Given the description of an element on the screen output the (x, y) to click on. 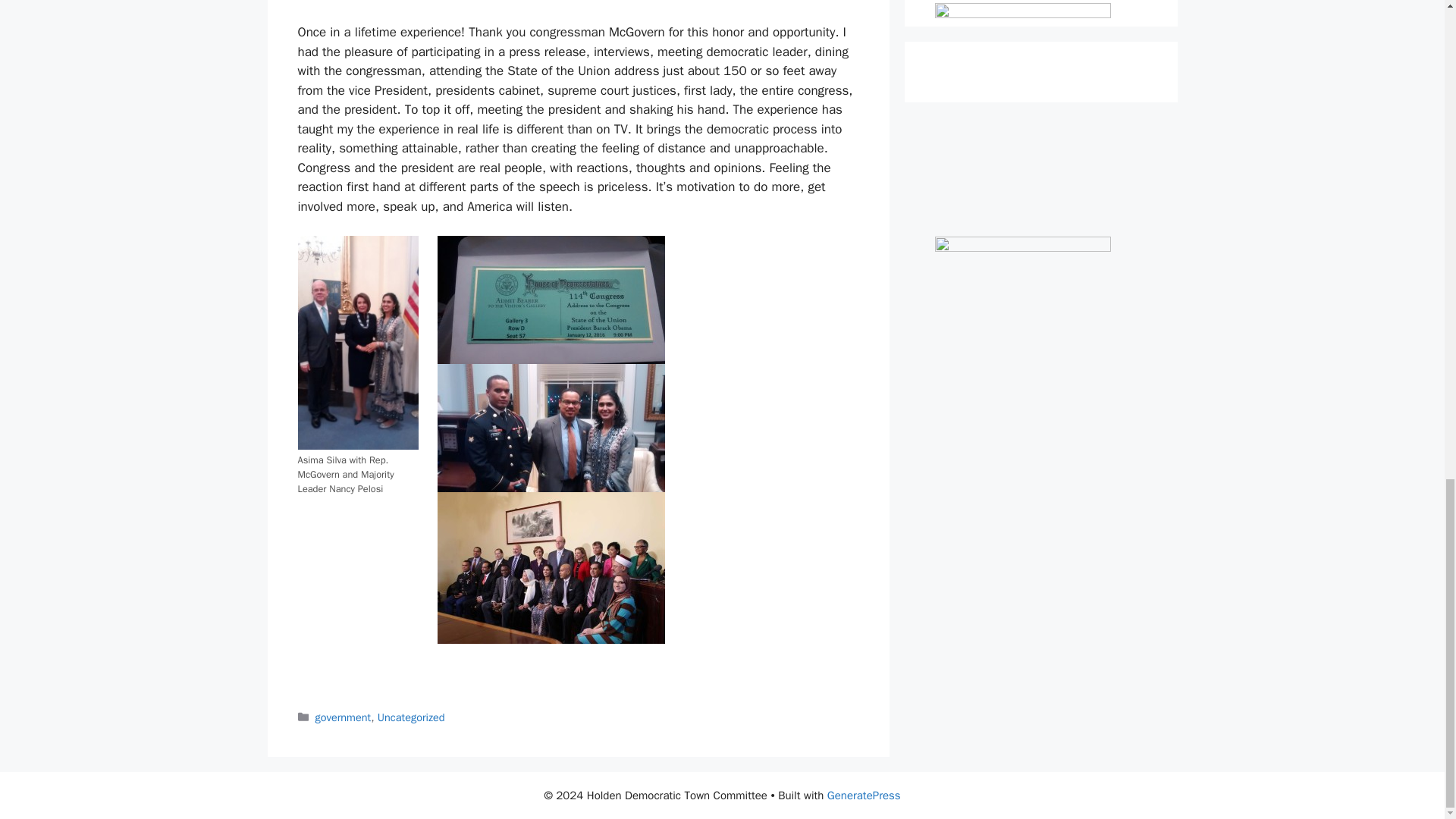
government (343, 716)
GeneratePress (864, 795)
Uncategorized (411, 716)
